Given the description of an element on the screen output the (x, y) to click on. 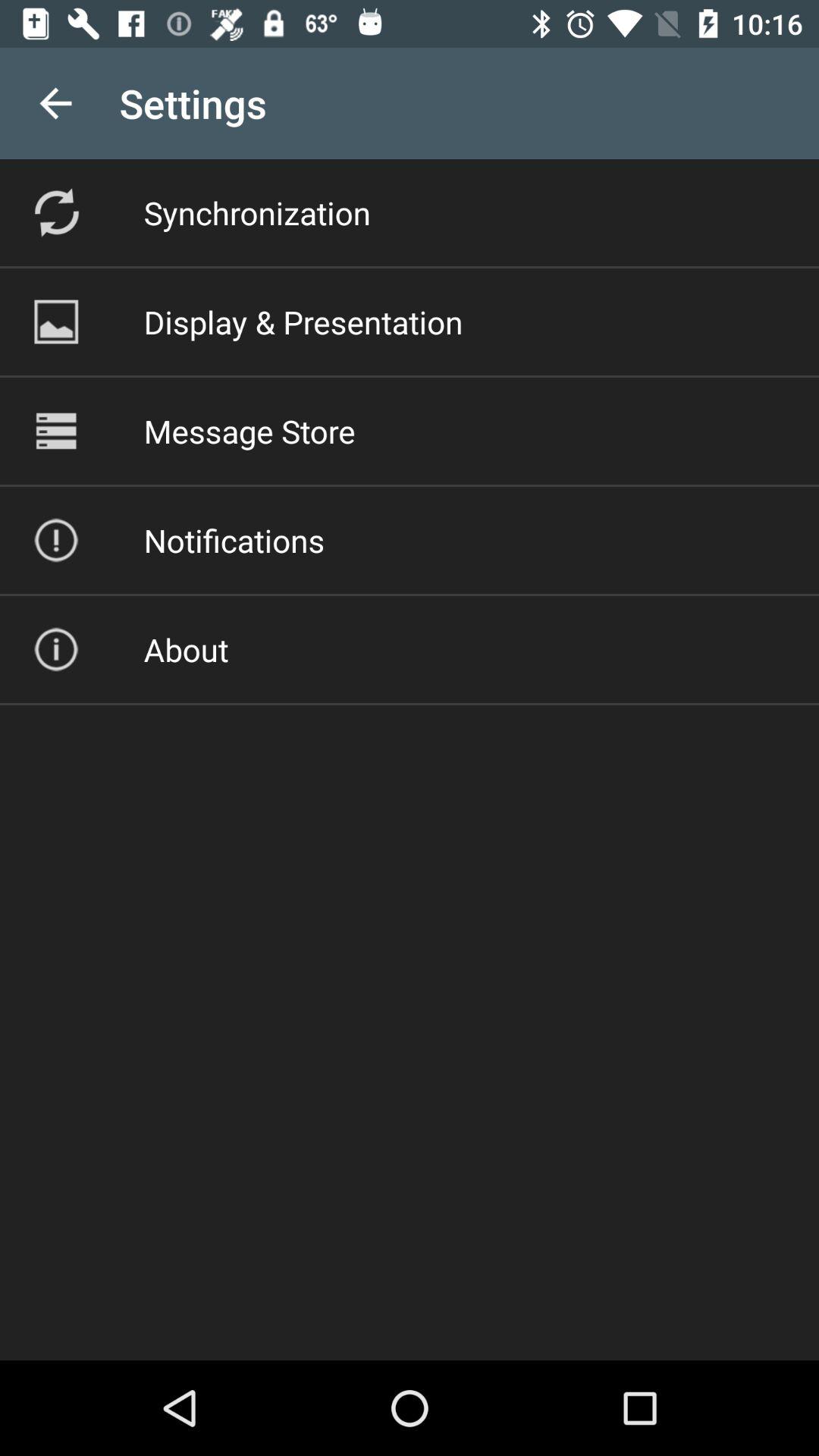
open the icon below settings icon (256, 212)
